Given the description of an element on the screen output the (x, y) to click on. 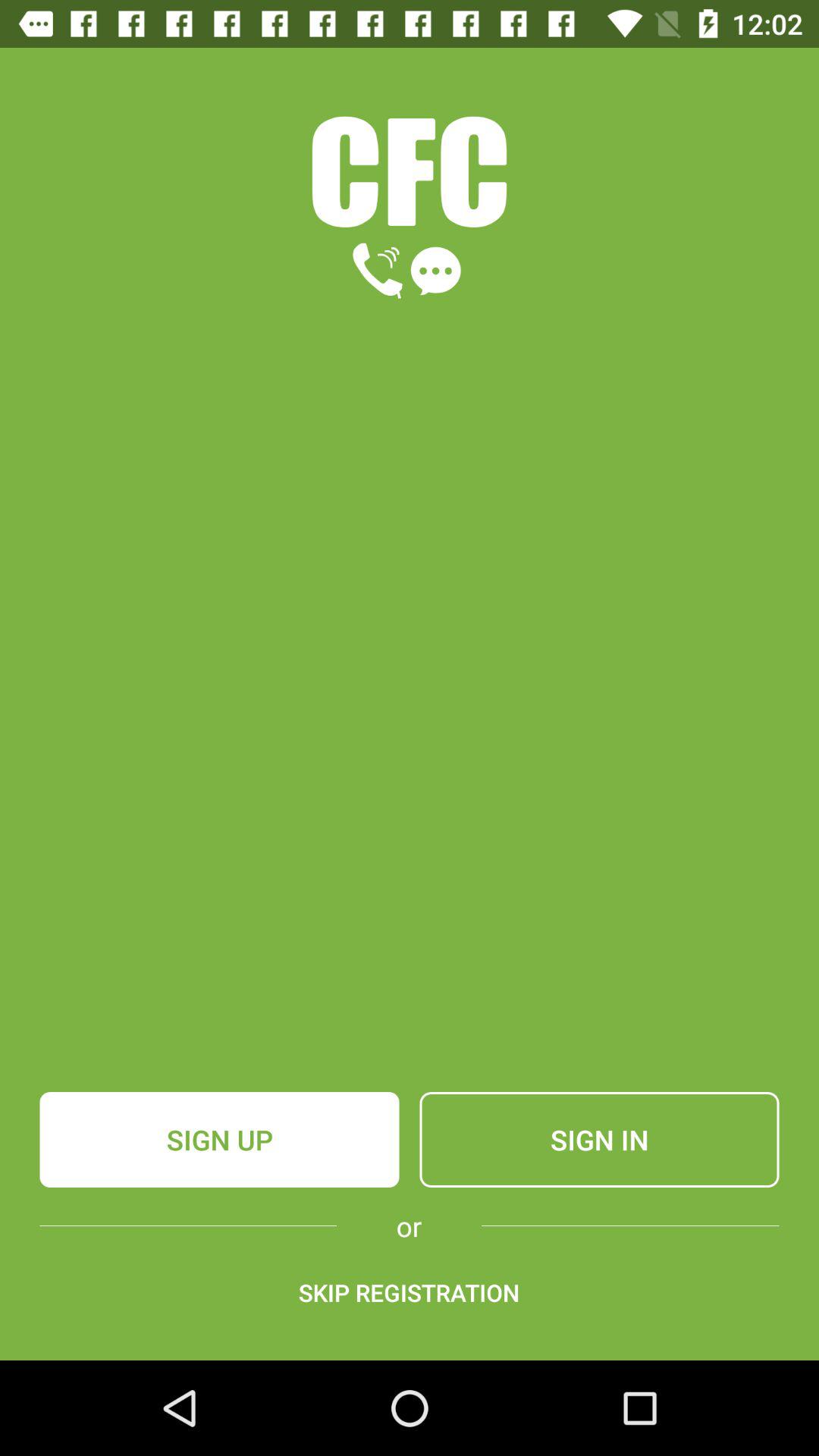
turn on item to the left of the sign in icon (219, 1139)
